Given the description of an element on the screen output the (x, y) to click on. 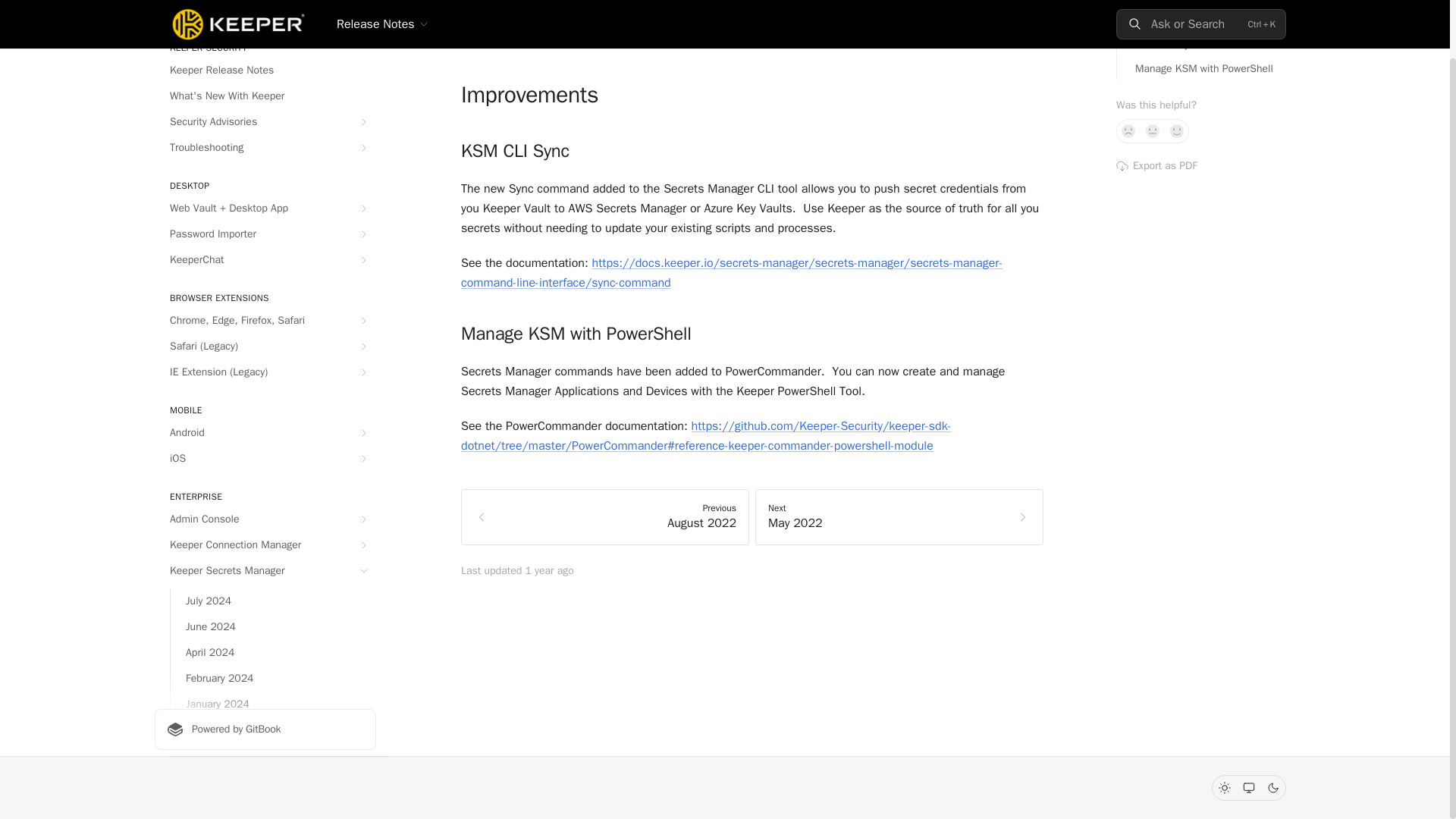
Troubleshooting (264, 147)
What's New With Keeper (264, 96)
Not sure (1152, 130)
Security Advisories (264, 121)
Latest Updates from Keeper (264, 11)
Yes, it was! (1176, 130)
No (1128, 130)
Keeper Release Notes (264, 70)
